Given the description of an element on the screen output the (x, y) to click on. 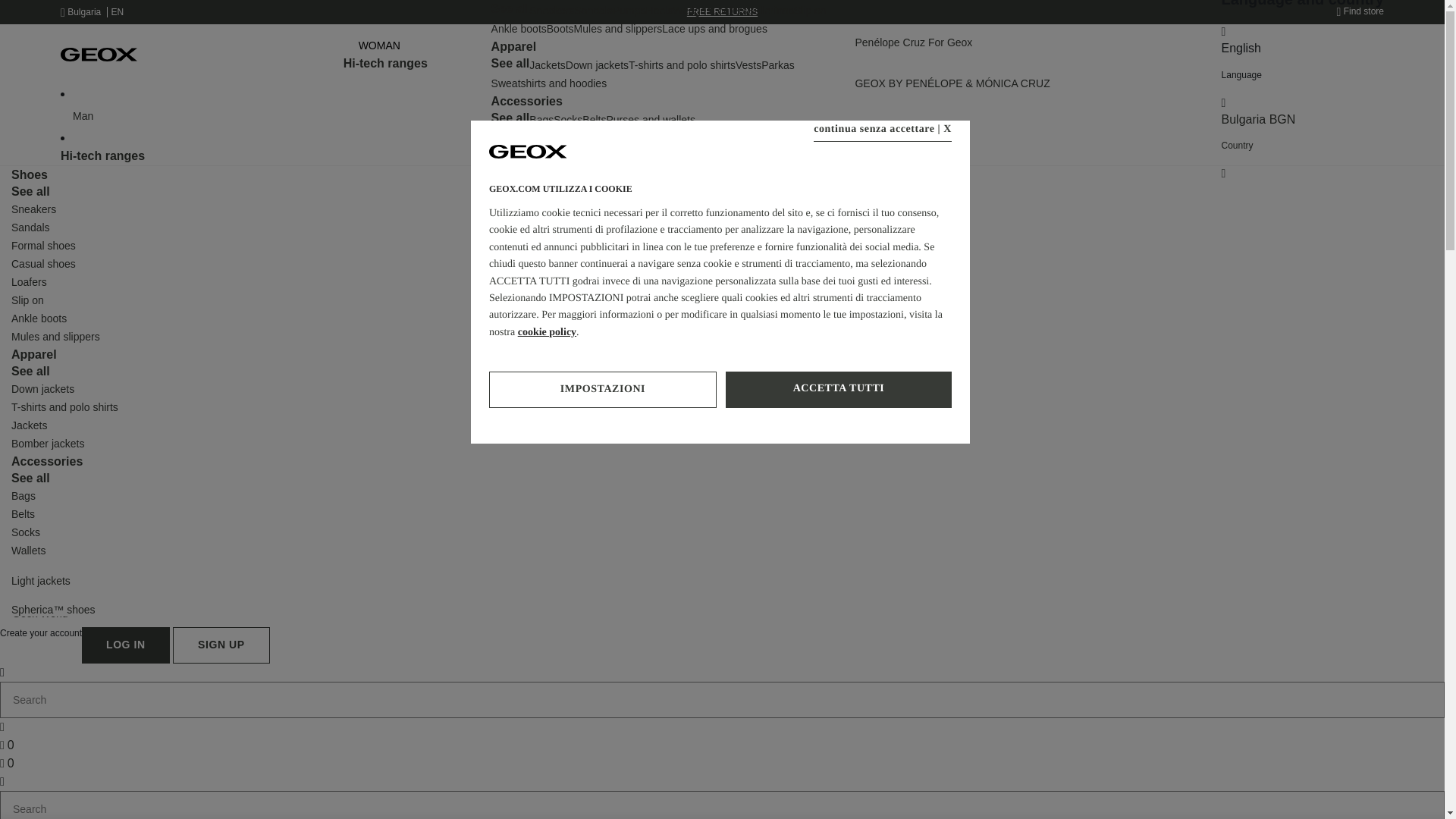
cookie policy (547, 332)
ACCETTA TUTTI (838, 389)
IMPOSTAZIONI (602, 389)
